Given the description of an element on the screen output the (x, y) to click on. 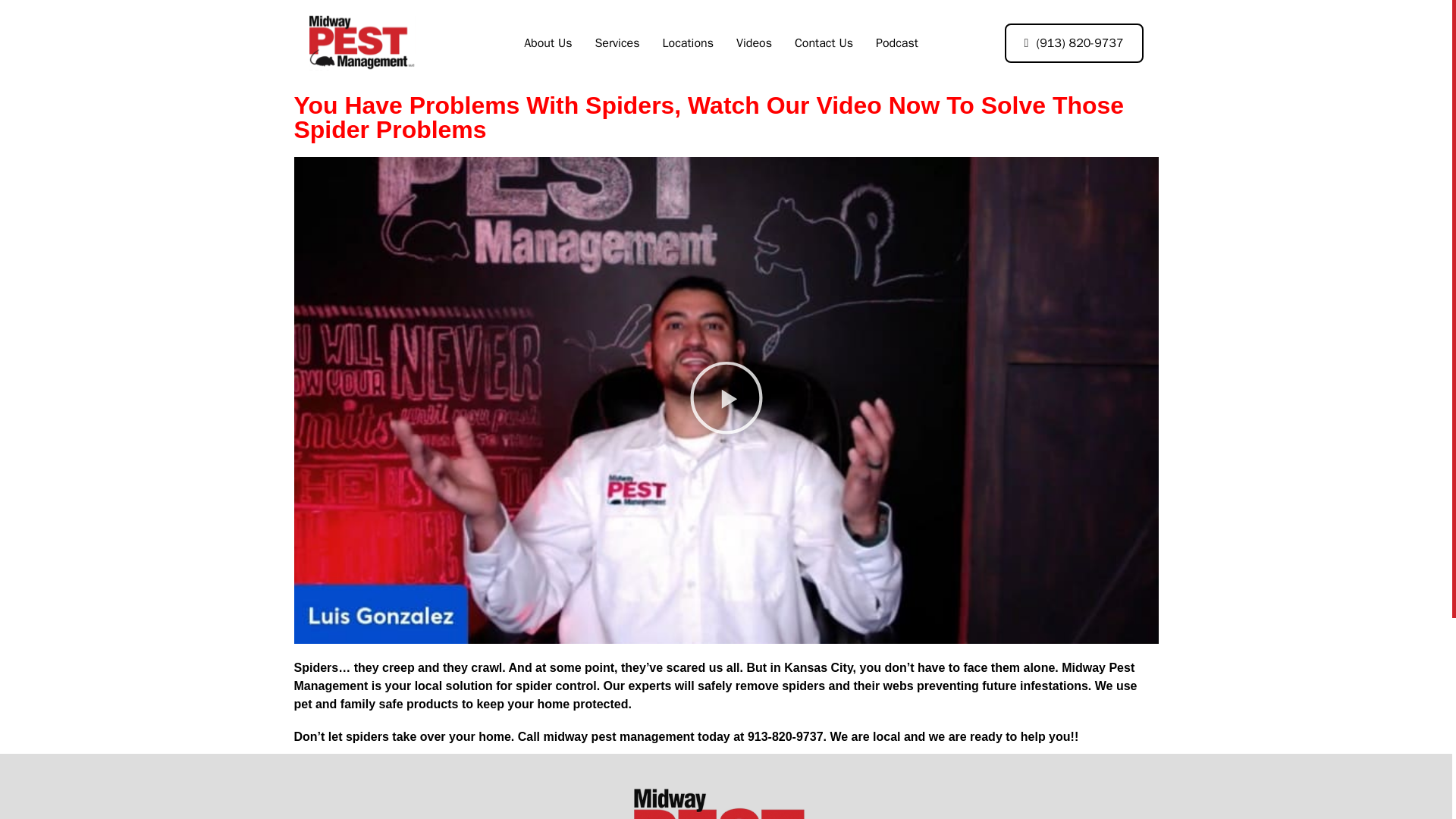
Locations (687, 43)
Contact Us (823, 43)
About Us (548, 43)
Videos (753, 43)
Services (616, 43)
Podcast (897, 43)
